Given the description of an element on the screen output the (x, y) to click on. 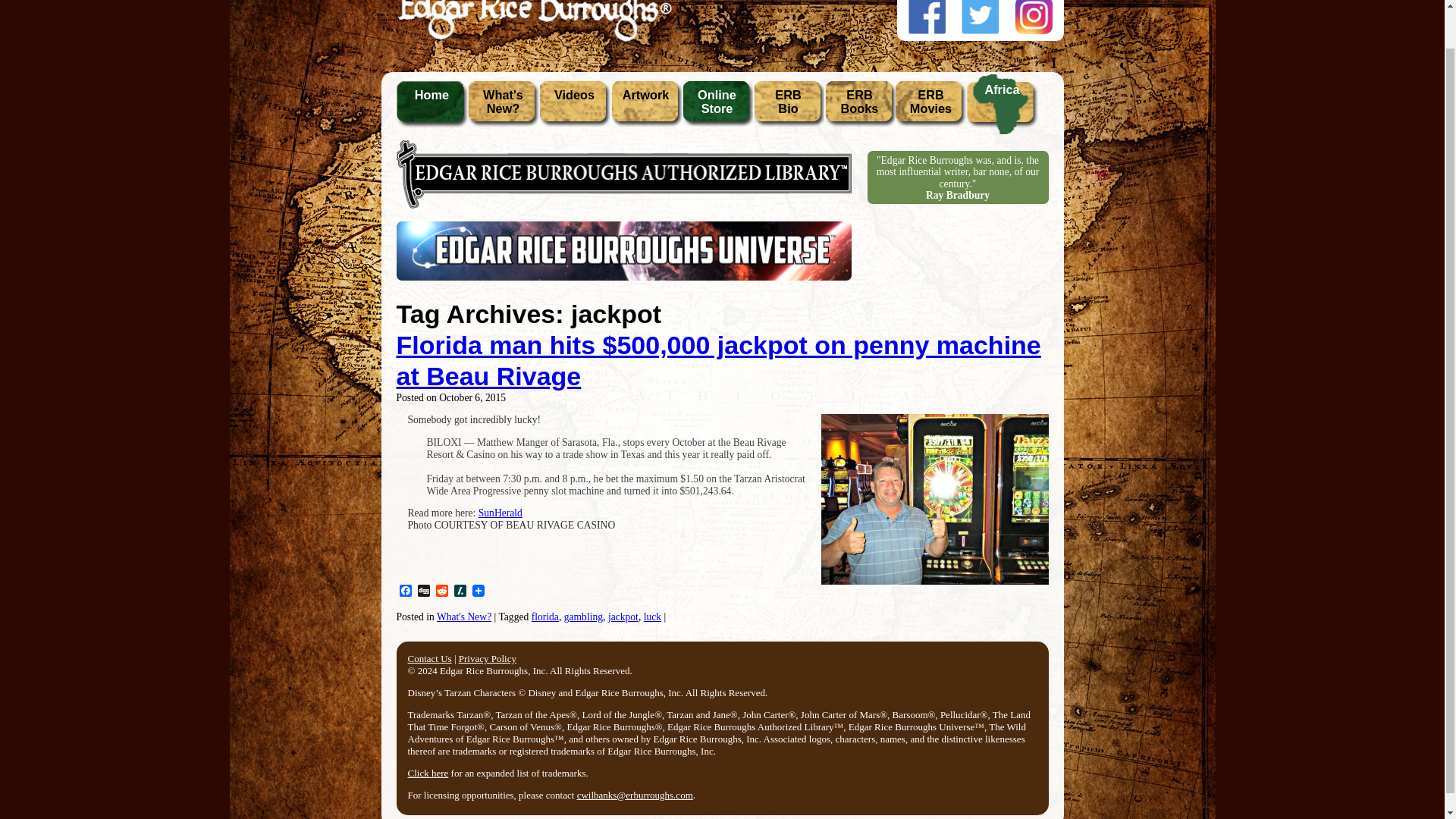
Edgar Rice Burroughs (532, 38)
Contact Us (429, 658)
What's New? (859, 107)
Slashdot (464, 616)
Reddit (788, 107)
Facebook (458, 591)
Reddit (440, 591)
SunHerald (716, 107)
Facebook (404, 591)
Click here (440, 591)
Home (500, 512)
jackpot (404, 591)
